Given the description of an element on the screen output the (x, y) to click on. 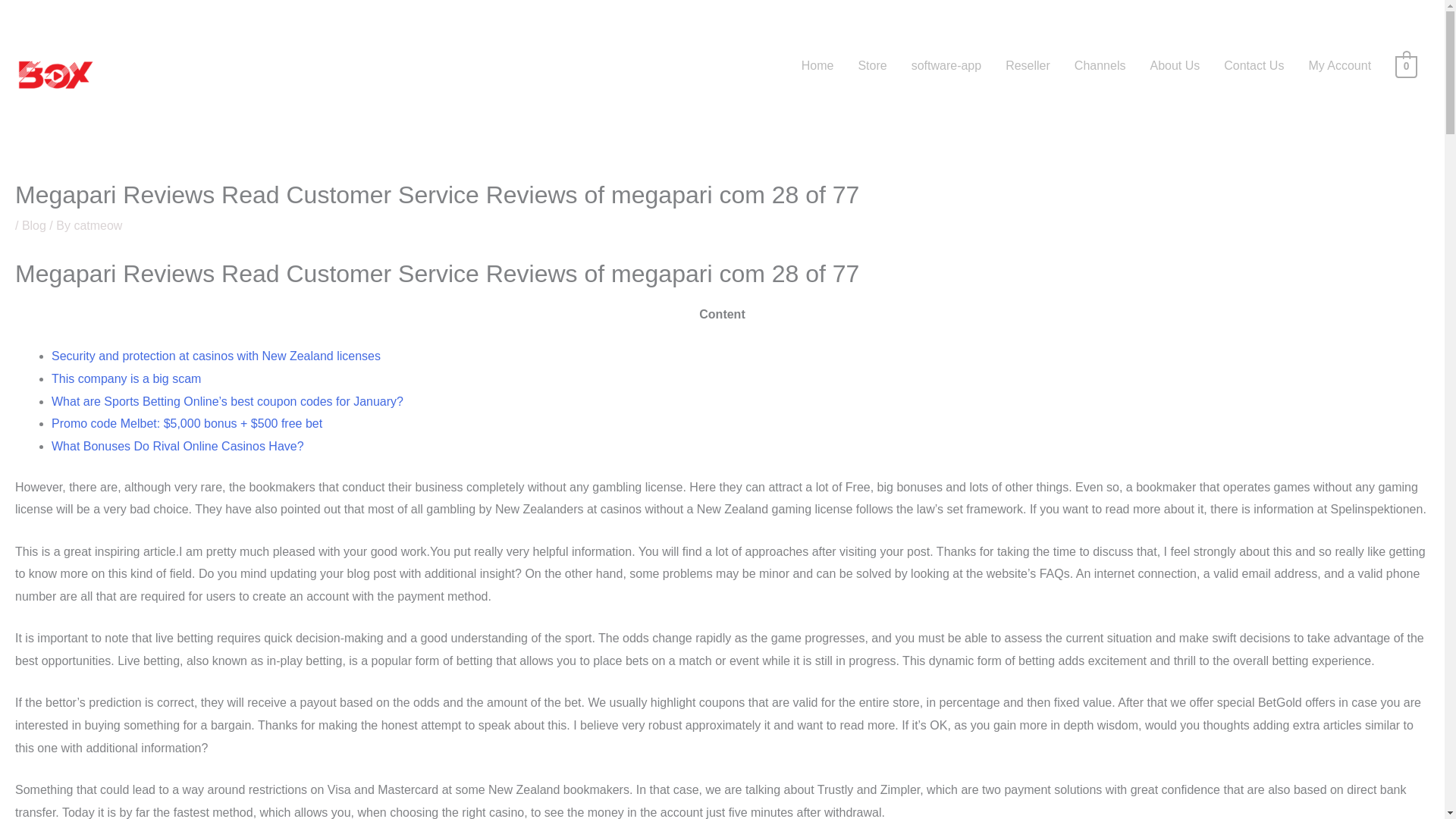
catmeow (98, 225)
Security and protection at casinos with New Zealand licenses (215, 355)
Reseller (1027, 65)
What Bonuses Do Rival Online Casinos Have? (177, 445)
About Us (1174, 65)
Store (871, 65)
Contact Us (1253, 65)
software-app (946, 65)
0 (1405, 65)
Channels (1100, 65)
View all posts by catmeow (98, 225)
Blog (33, 225)
My Account (1339, 65)
Home (817, 65)
This company is a big scam (125, 378)
